Given the description of an element on the screen output the (x, y) to click on. 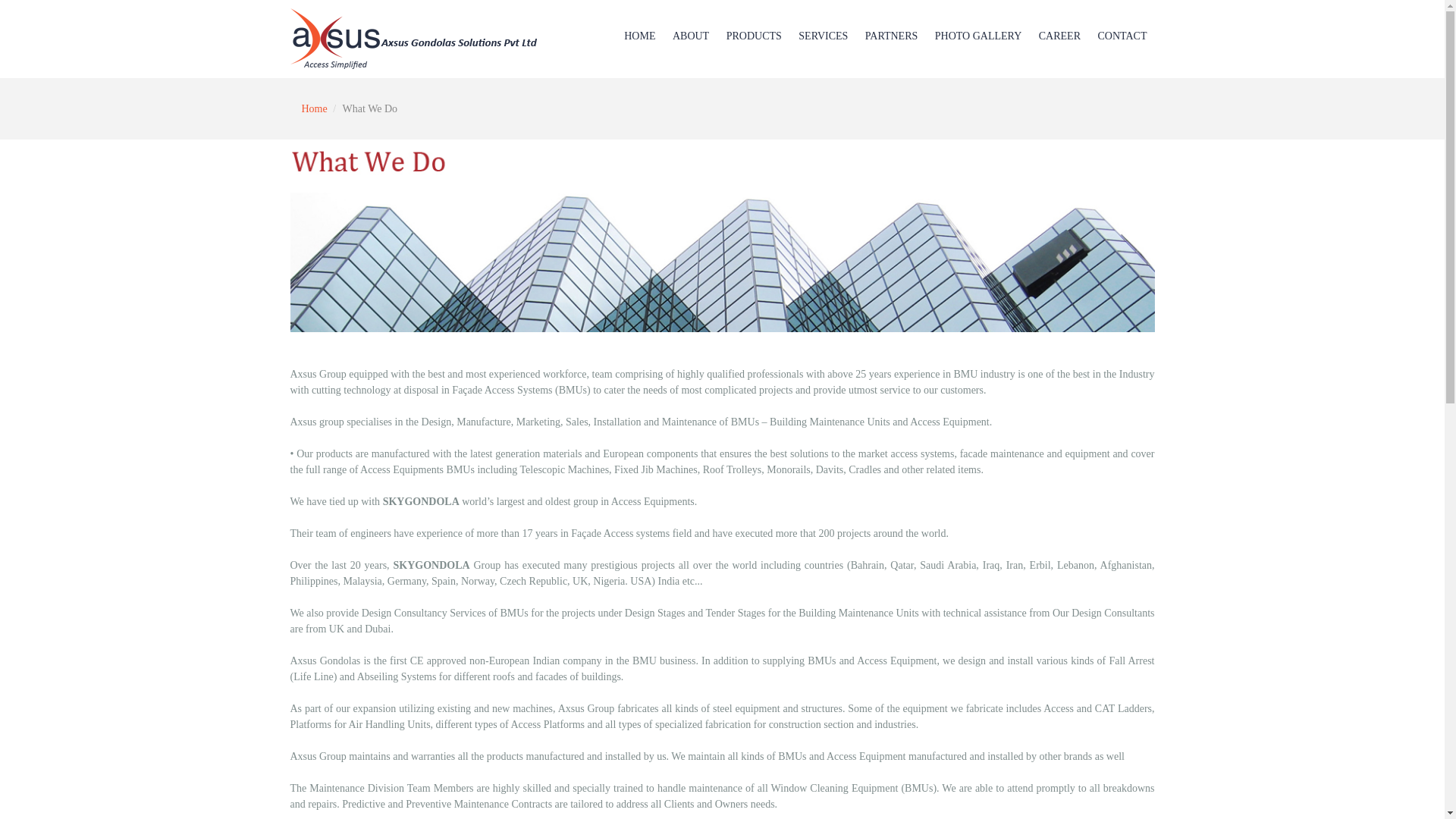
SERVICES (823, 36)
HOME (638, 36)
PRODUCTS (754, 36)
CAREER (1058, 36)
PARTNERS (890, 36)
ABOUT (690, 36)
CONTACT (1122, 36)
Home (314, 108)
PHOTO GALLERY (978, 36)
